Given the description of an element on the screen output the (x, y) to click on. 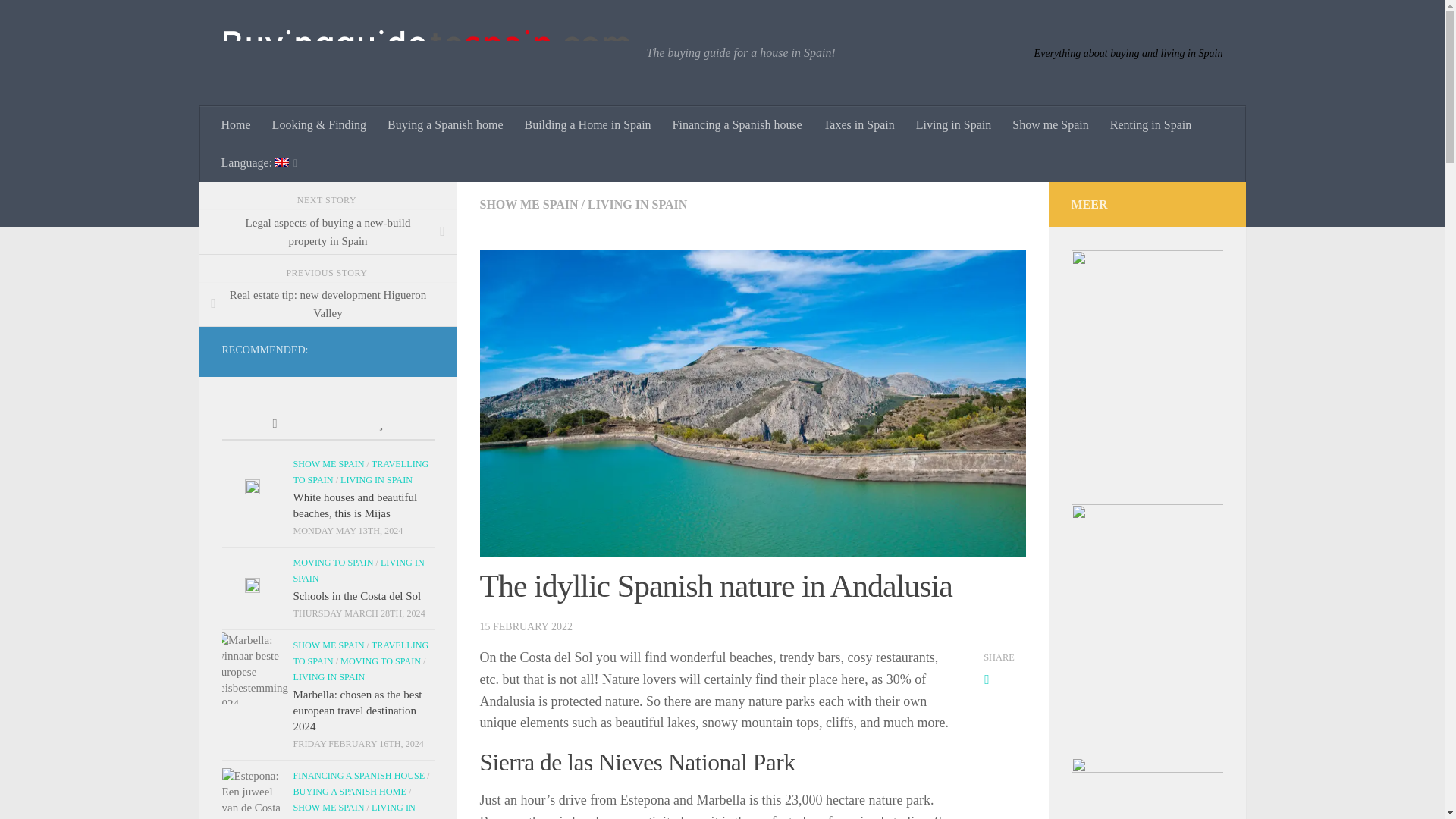
Buying a Spanish home (445, 125)
Language:  (259, 162)
Skip to content (59, 20)
Home (236, 125)
Show me Spain (1050, 125)
Renting in Spain (1150, 125)
Recent Posts (274, 424)
SHOW ME SPAIN (528, 204)
Building a Home in Spain (587, 125)
Taxes in Spain (858, 125)
Financing a Spanish house (737, 125)
English (259, 162)
LIVING IN SPAIN (637, 204)
Living in Spain (954, 125)
